Given the description of an element on the screen output the (x, y) to click on. 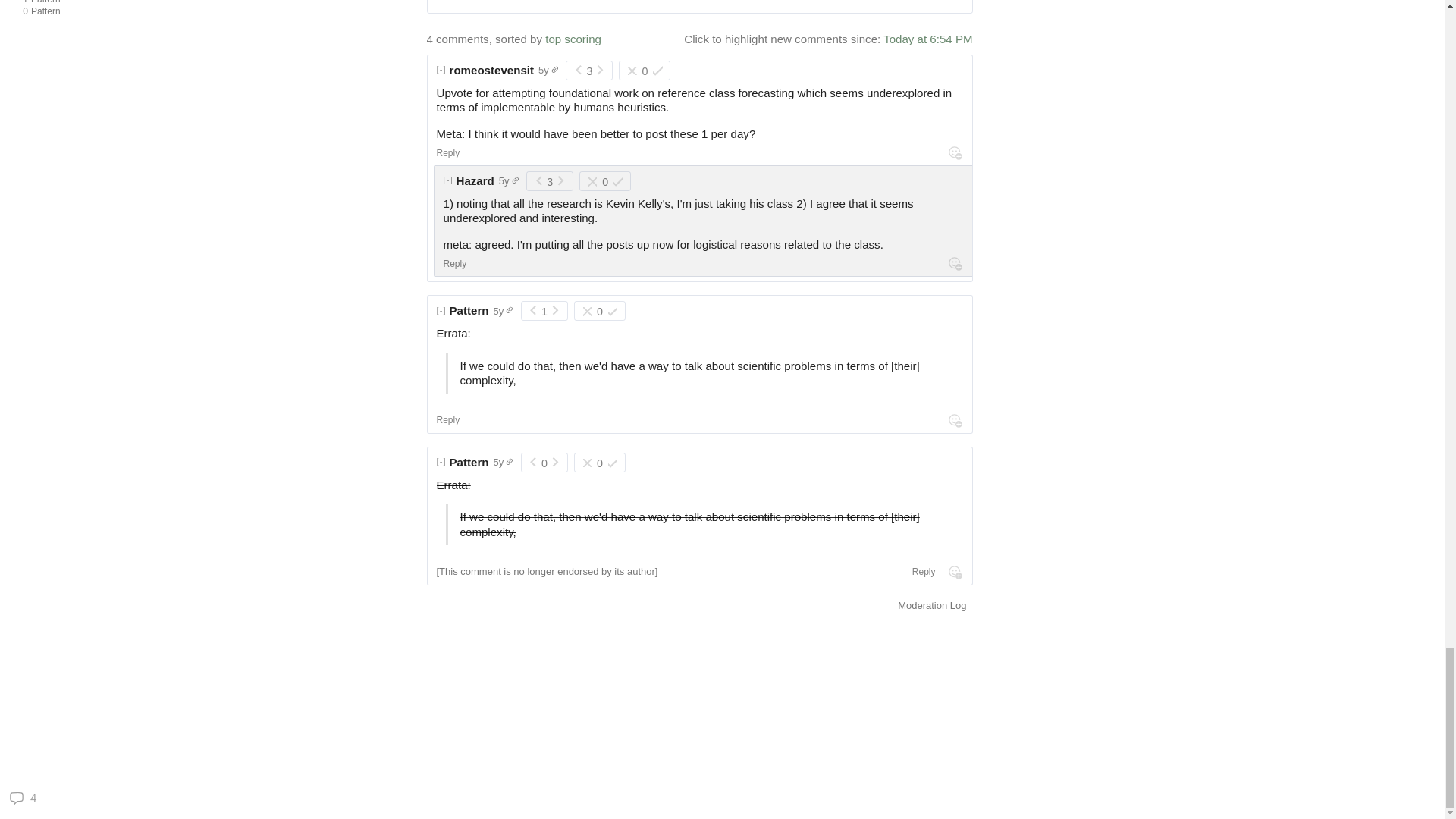
SUBMIT (928, 2)
romeostevensit (109, 12)
Hazard (491, 69)
Reply (109, 3)
Today at 6:54 PM (476, 180)
top scoring (448, 153)
